Given the description of an element on the screen output the (x, y) to click on. 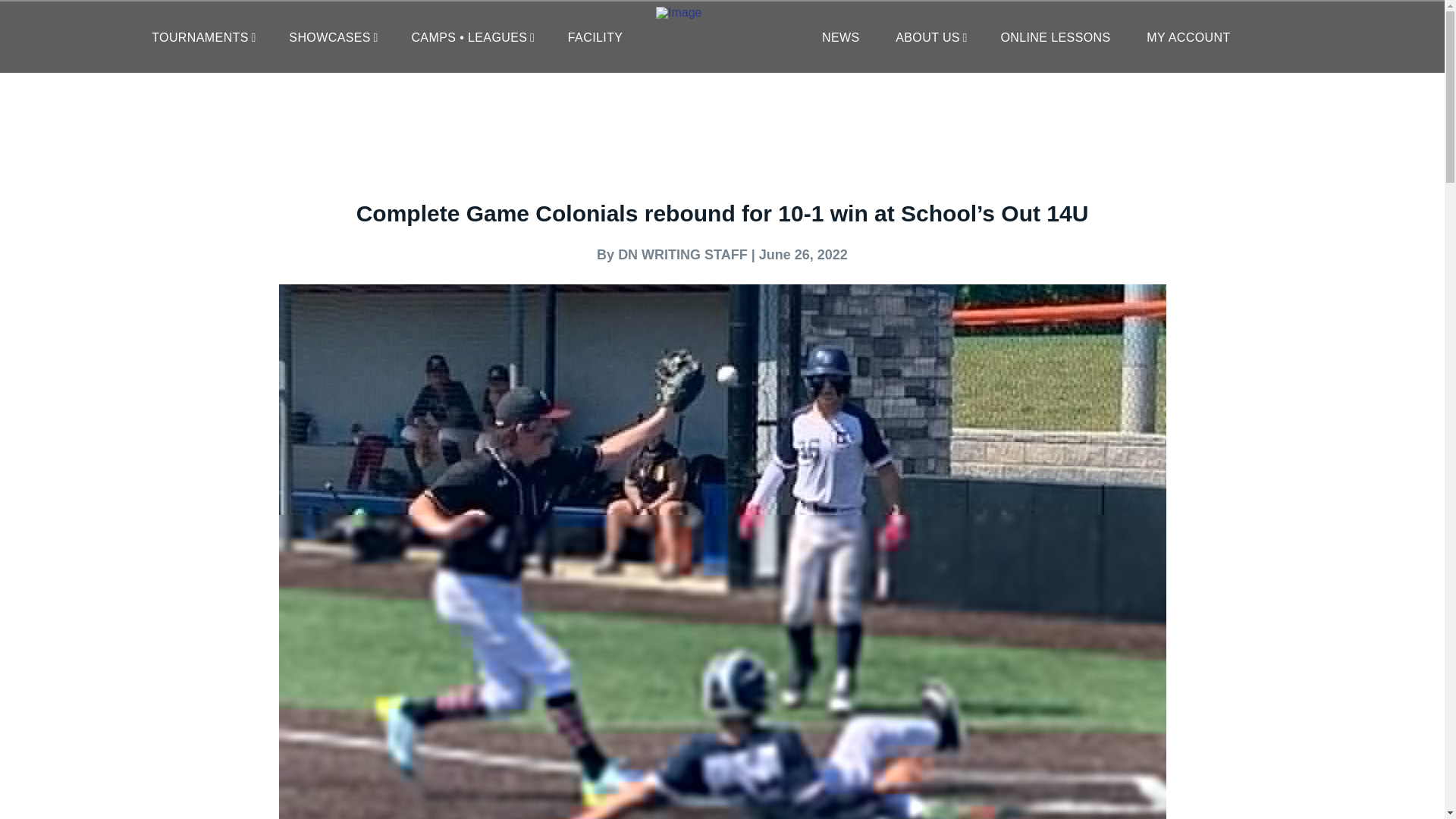
MY ACCOUNT (1187, 37)
ABOUT US (929, 37)
ONLINE LESSONS (1054, 37)
SHOWCASES (331, 37)
FACILITY (595, 37)
TOURNAMENTS (201, 37)
NEWS (840, 37)
